Given the description of an element on the screen output the (x, y) to click on. 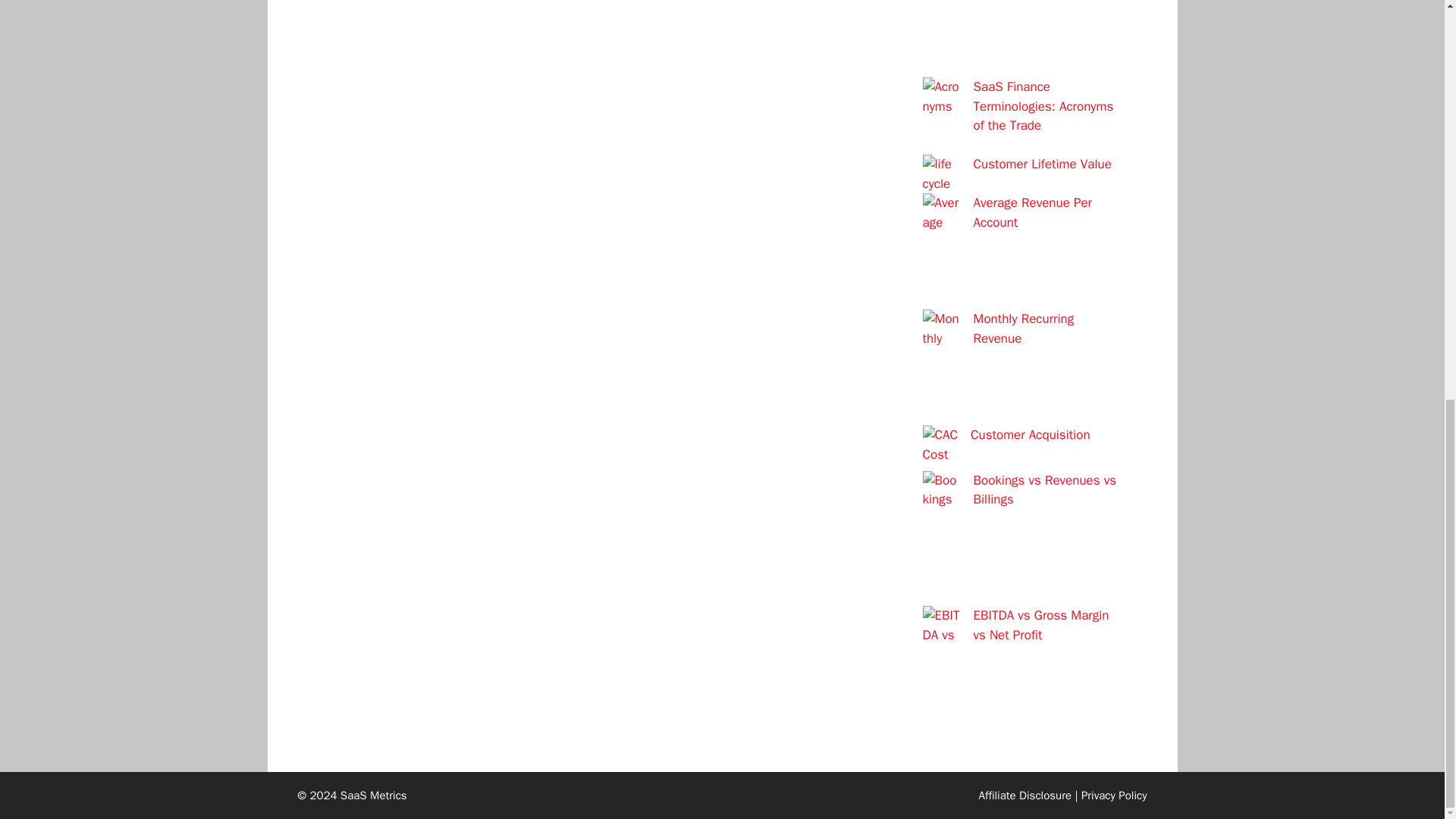
SaaS Finance Terminologies: Acronyms of the Trade (1043, 105)
EBITDA vs Gross Margin vs Net Profit (1041, 624)
Customer Acquisition Cost (1005, 444)
Customer Lifetime Value (1043, 163)
Average Revenue Per Account (1033, 212)
Bookings vs Revenues vs Billings (1045, 488)
Monthly Recurring Revenue (1024, 328)
